Given the description of an element on the screen output the (x, y) to click on. 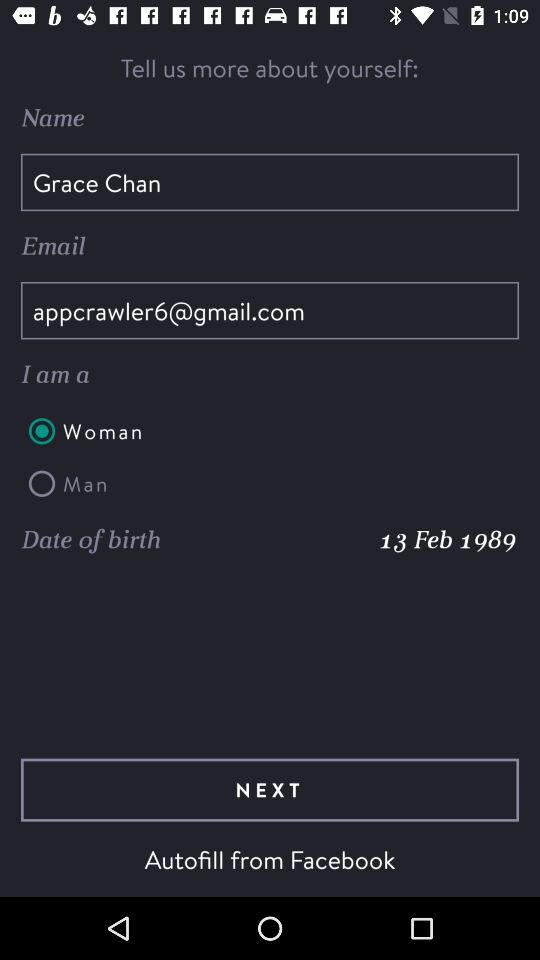
tap item below date of birth item (270, 789)
